Given the description of an element on the screen output the (x, y) to click on. 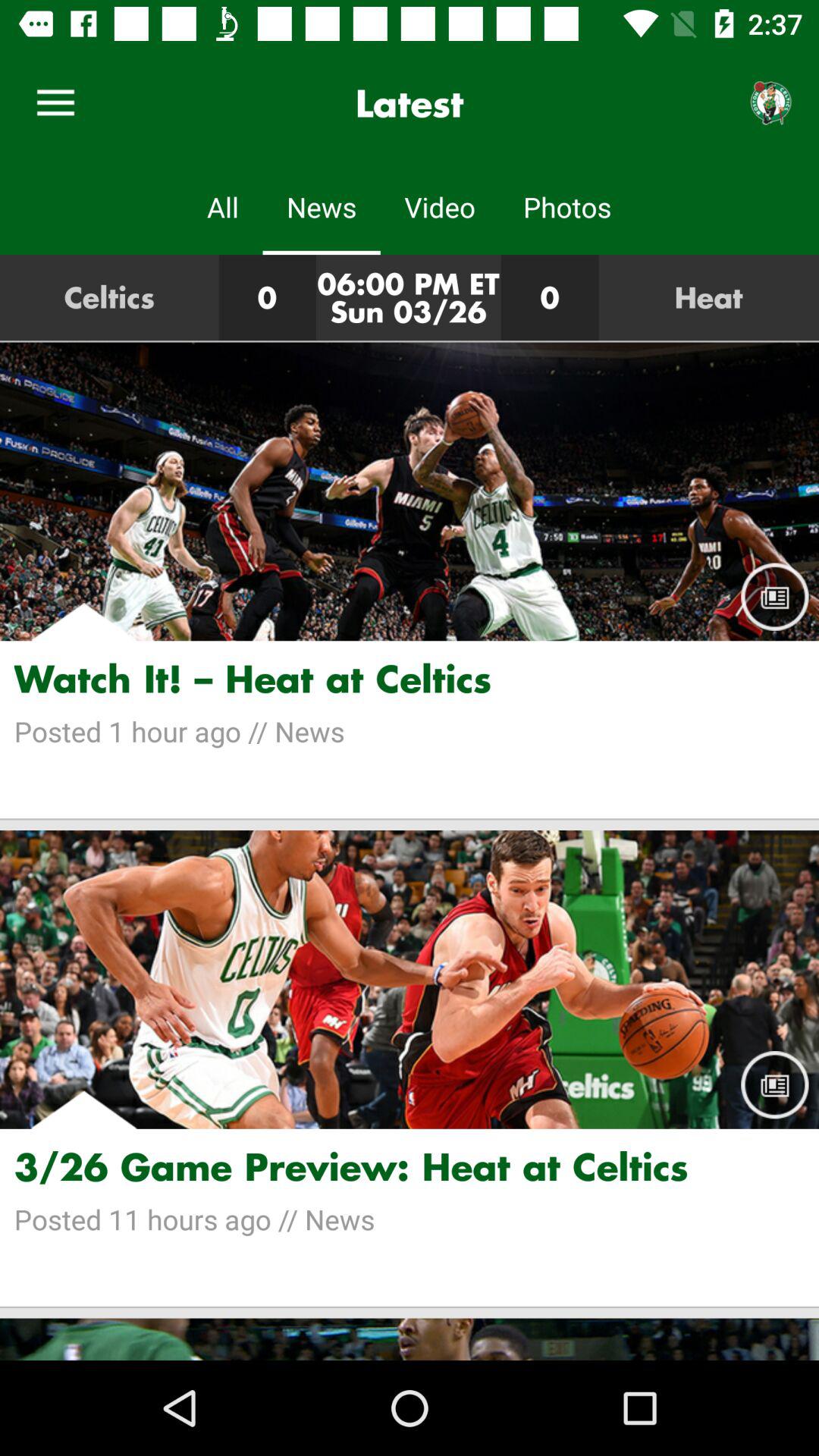
launch item next to latest icon (771, 103)
